Given the description of an element on the screen output the (x, y) to click on. 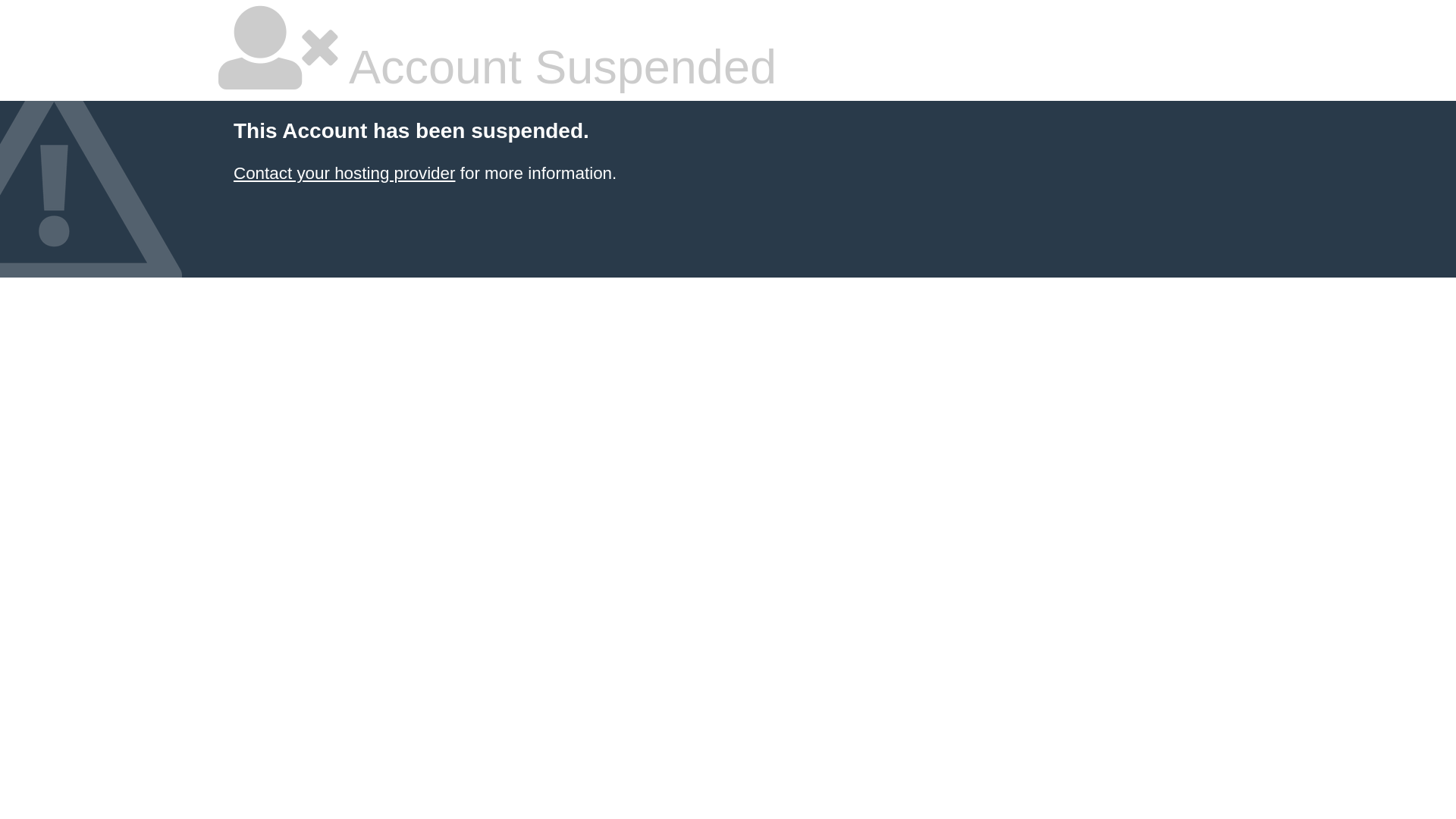
Contact your hosting provider Element type: text (344, 172)
